Given the description of an element on the screen output the (x, y) to click on. 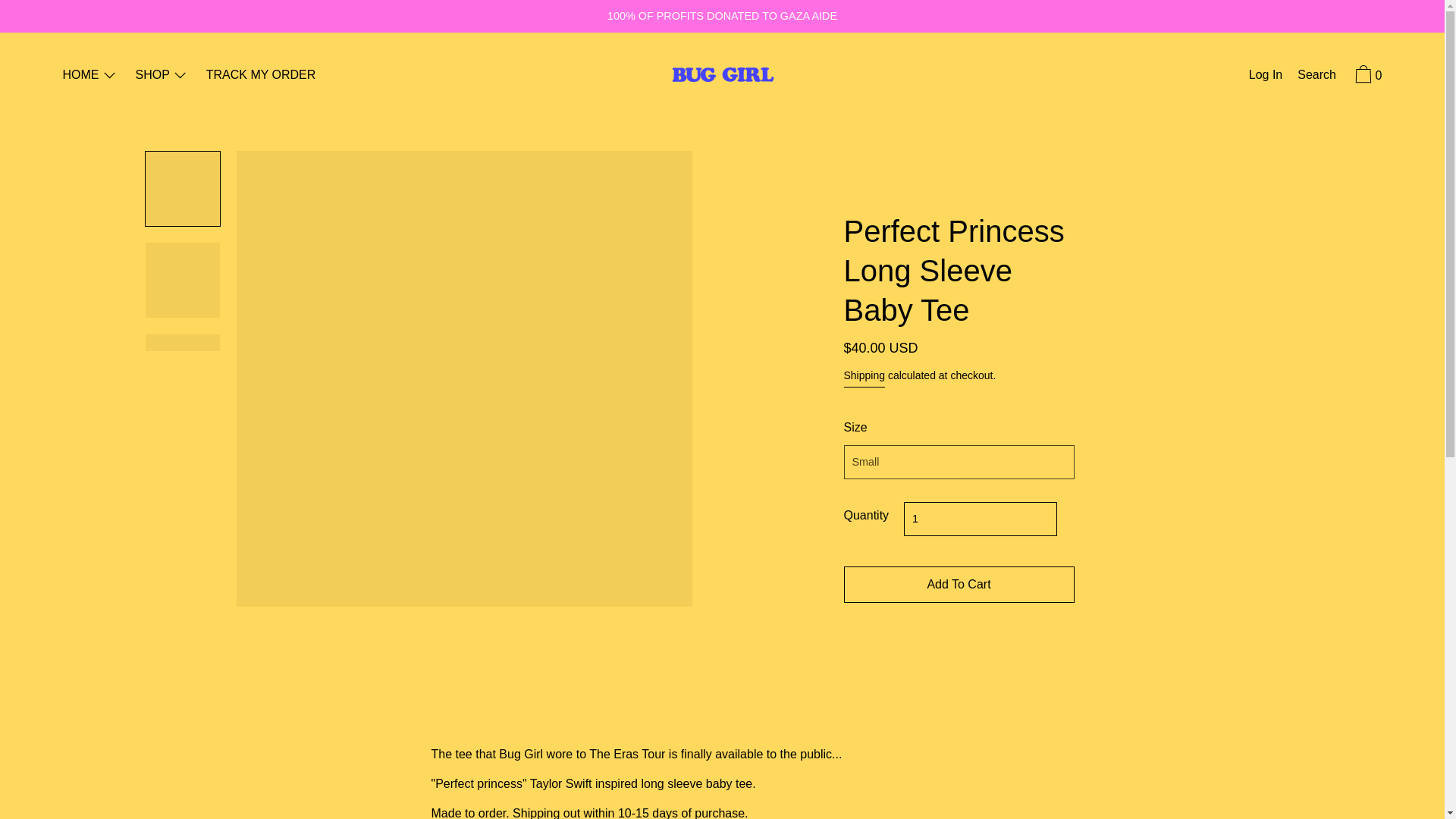
TRACK MY ORDER (260, 76)
0 (1366, 76)
Search (1316, 76)
SHOP (161, 76)
1 (980, 519)
Log In (1265, 76)
HOME (89, 76)
